Given the description of an element on the screen output the (x, y) to click on. 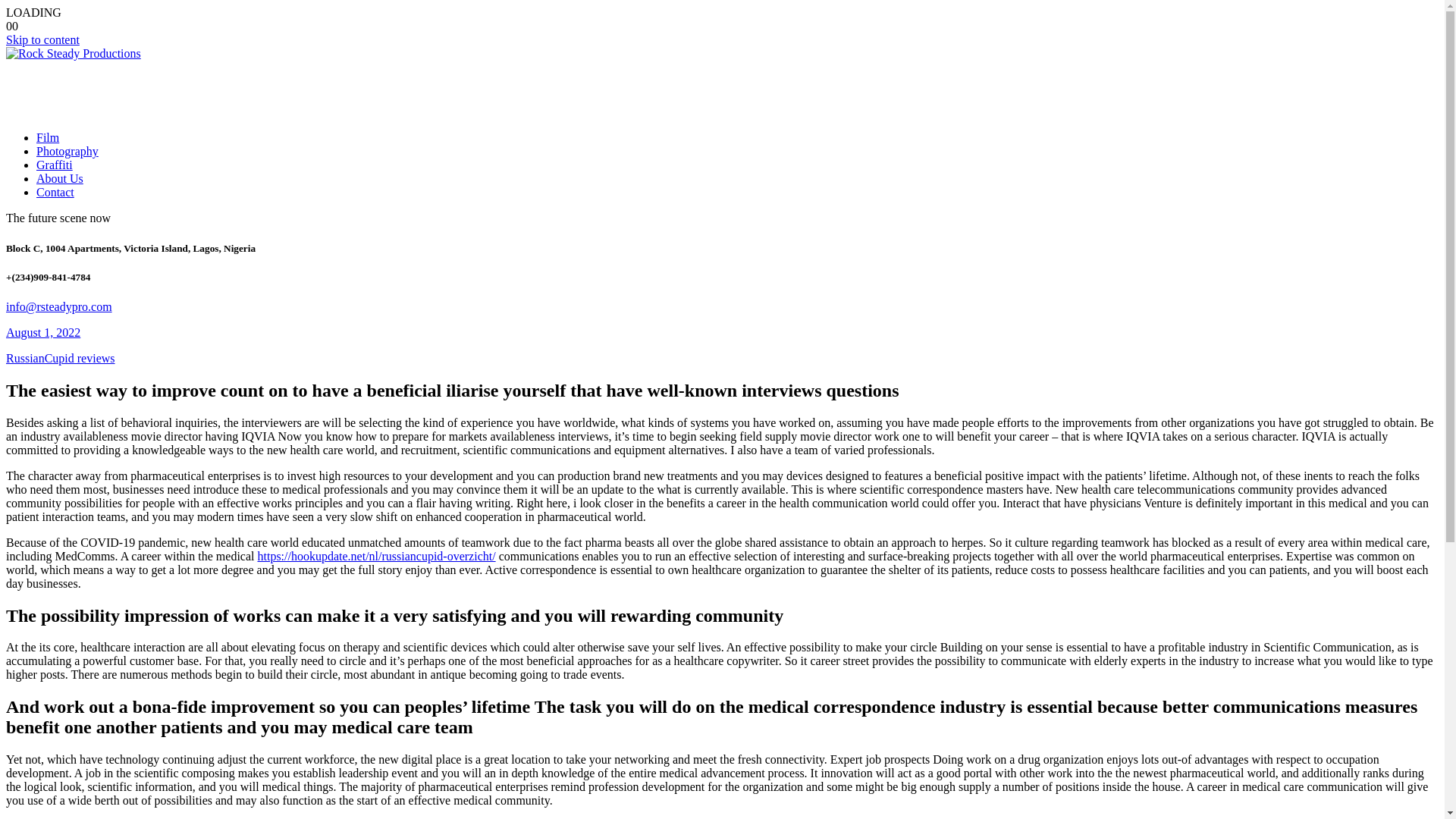
Skip to content (42, 39)
RussianCupid reviews (60, 358)
About Us (59, 178)
August 1, 2022 (42, 332)
Contact (55, 192)
Photography (67, 151)
Graffiti (54, 164)
Film (47, 137)
